Given the description of an element on the screen output the (x, y) to click on. 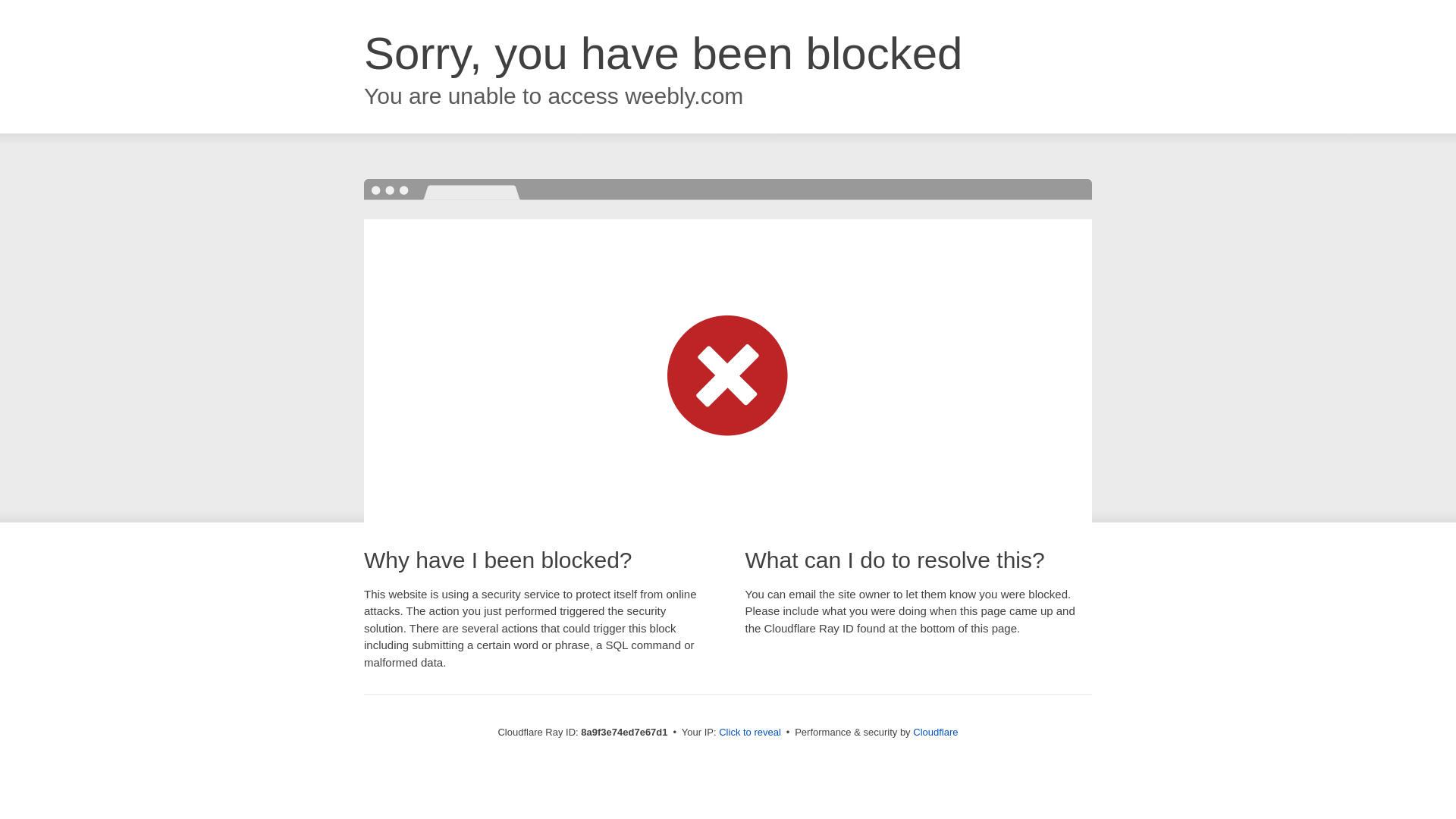
Cloudflare (935, 731)
Click to reveal (749, 732)
